Given the description of an element on the screen output the (x, y) to click on. 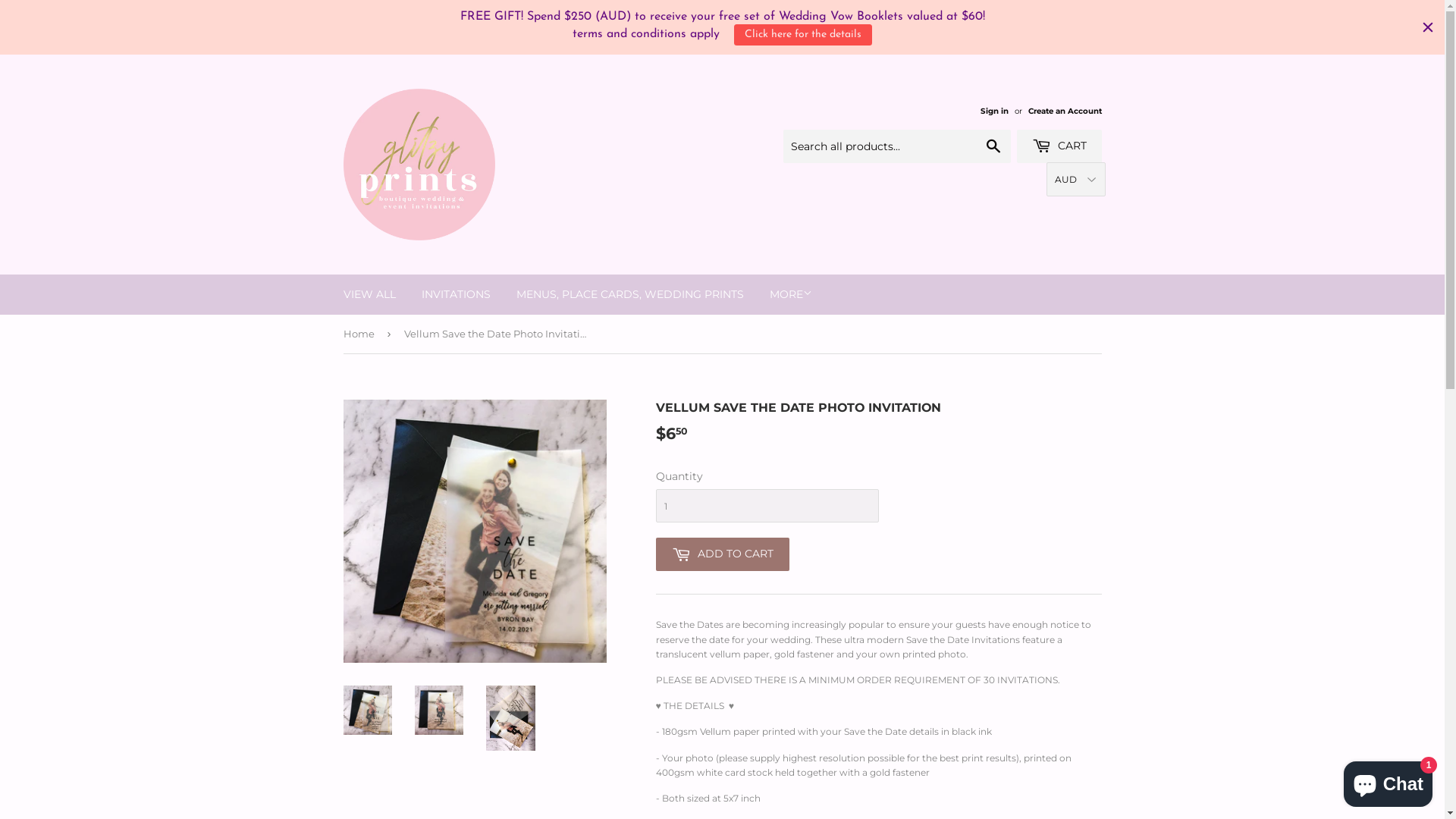
Search Element type: text (993, 147)
CART Element type: text (1058, 146)
VIEW ALL Element type: text (369, 293)
Sign in Element type: text (993, 111)
MENUS, PLACE CARDS, WEDDING PRINTS Element type: text (630, 293)
MORE Element type: text (790, 293)
Shopify online store chat Element type: hover (1388, 780)
ADD TO CART Element type: text (721, 554)
Create an Account Element type: text (1064, 111)
Click here for the details Element type: text (803, 34)
Home Element type: text (360, 333)
INVITATIONS Element type: text (455, 293)
